Given the description of an element on the screen output the (x, y) to click on. 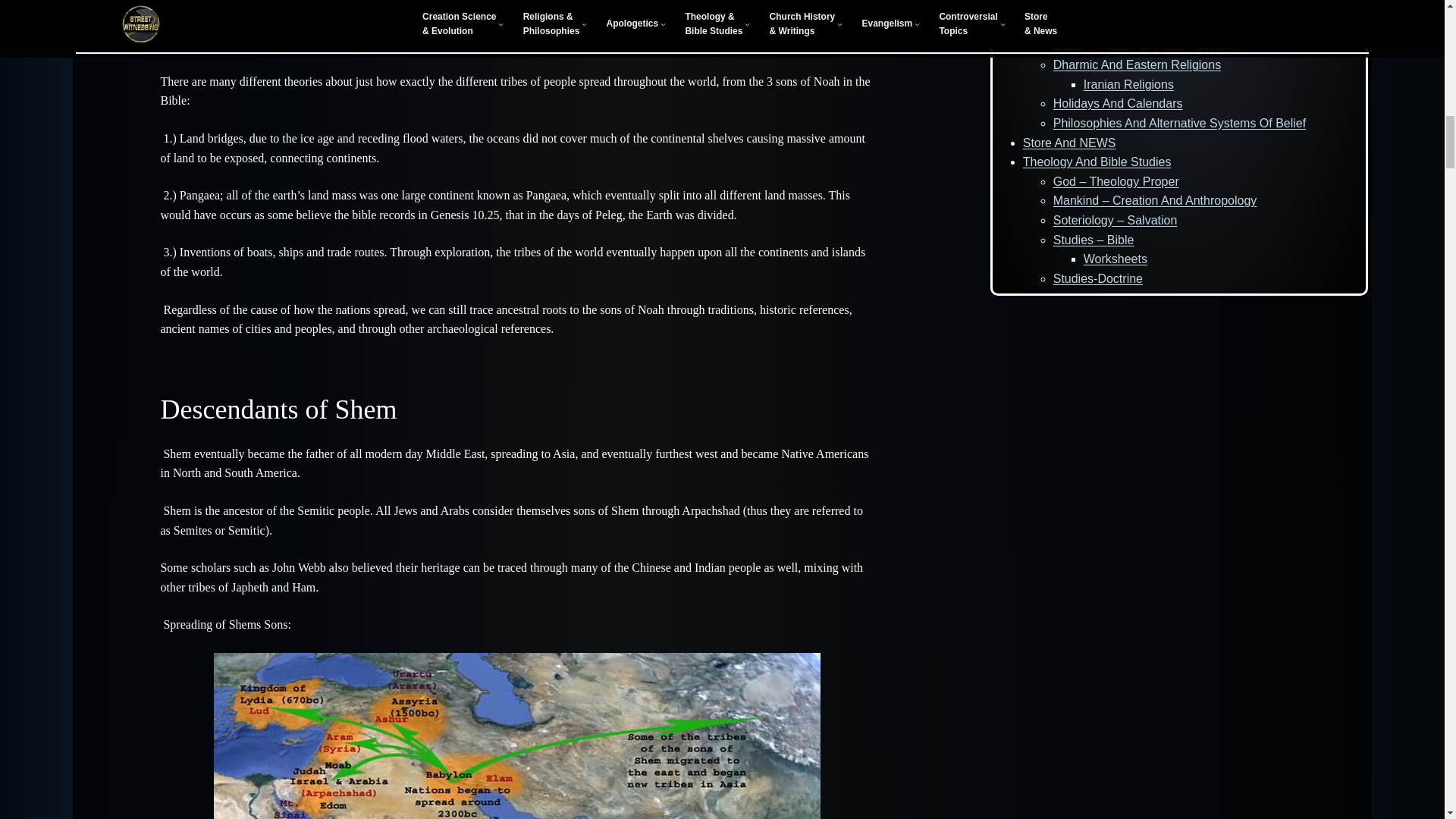
Fig.1 - Noah's Descendants World Map (517, 11)
Fig.2 - Noah's Descendants (517, 735)
